Given the description of an element on the screen output the (x, y) to click on. 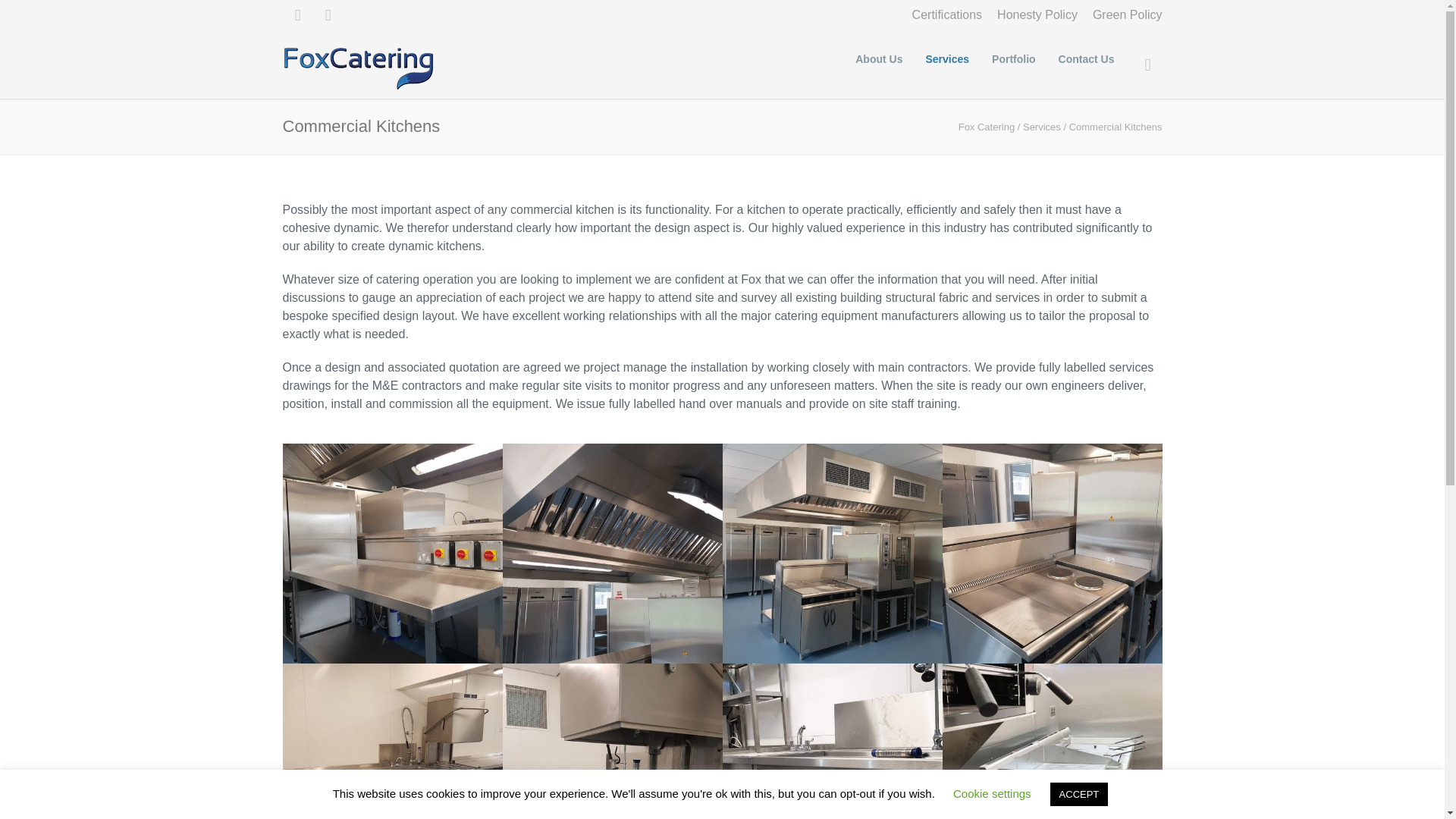
Services (1042, 126)
Green Policy (1127, 15)
About Us (879, 59)
Honesty Policy (1037, 15)
Certifications (946, 15)
Facebook (297, 15)
Services (946, 59)
Contact Us (1085, 59)
Twitter (327, 15)
Portfolio (1012, 59)
